Given the description of an element on the screen output the (x, y) to click on. 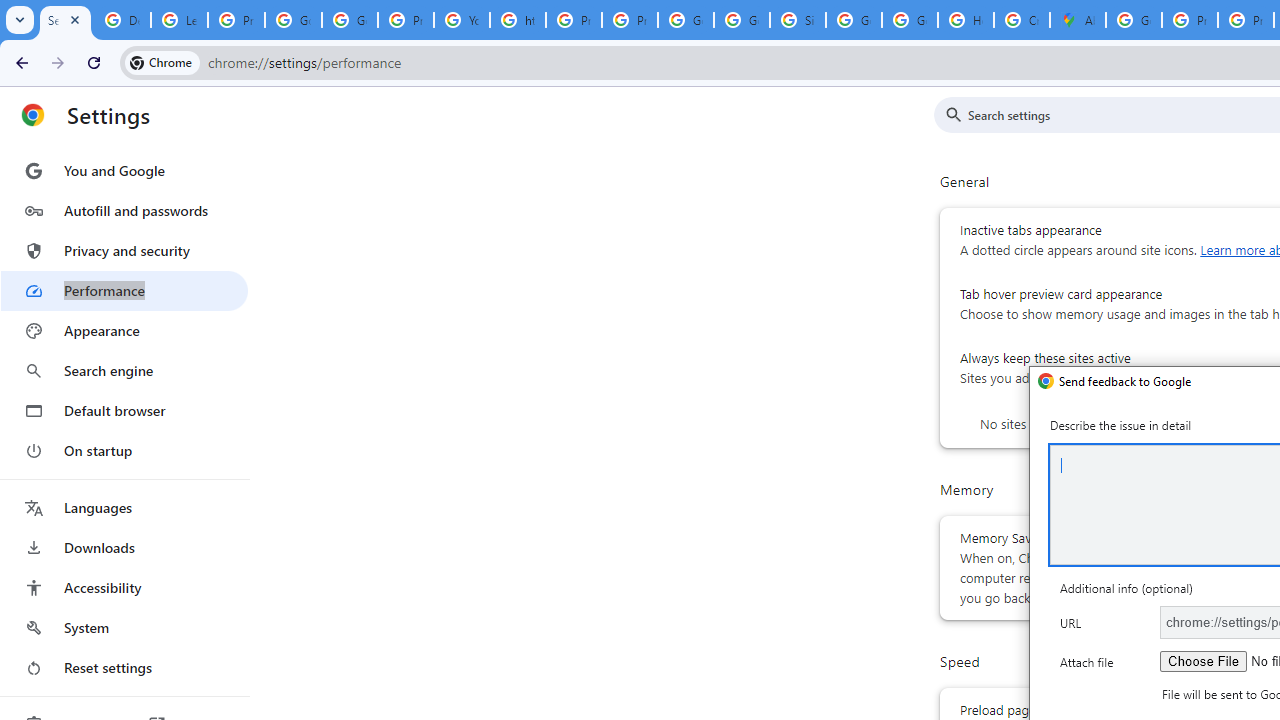
Accessibility (124, 587)
Search engine (124, 370)
Privacy Help Center - Policies Help (573, 20)
Downloads (124, 547)
Languages (124, 507)
